Given the description of an element on the screen output the (x, y) to click on. 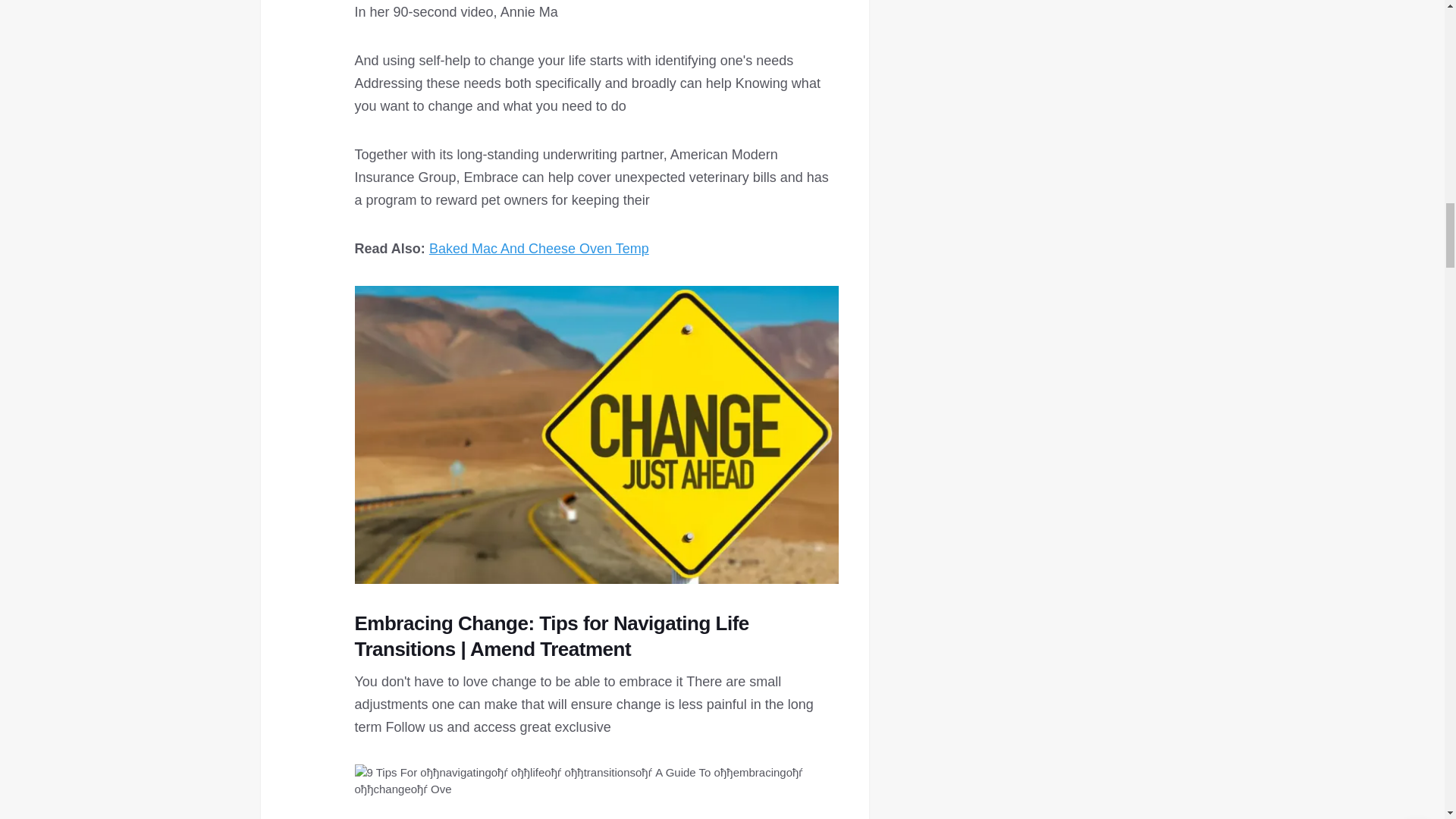
Baked Mac And Cheese Oven Temp (539, 248)
